Given the description of an element on the screen output the (x, y) to click on. 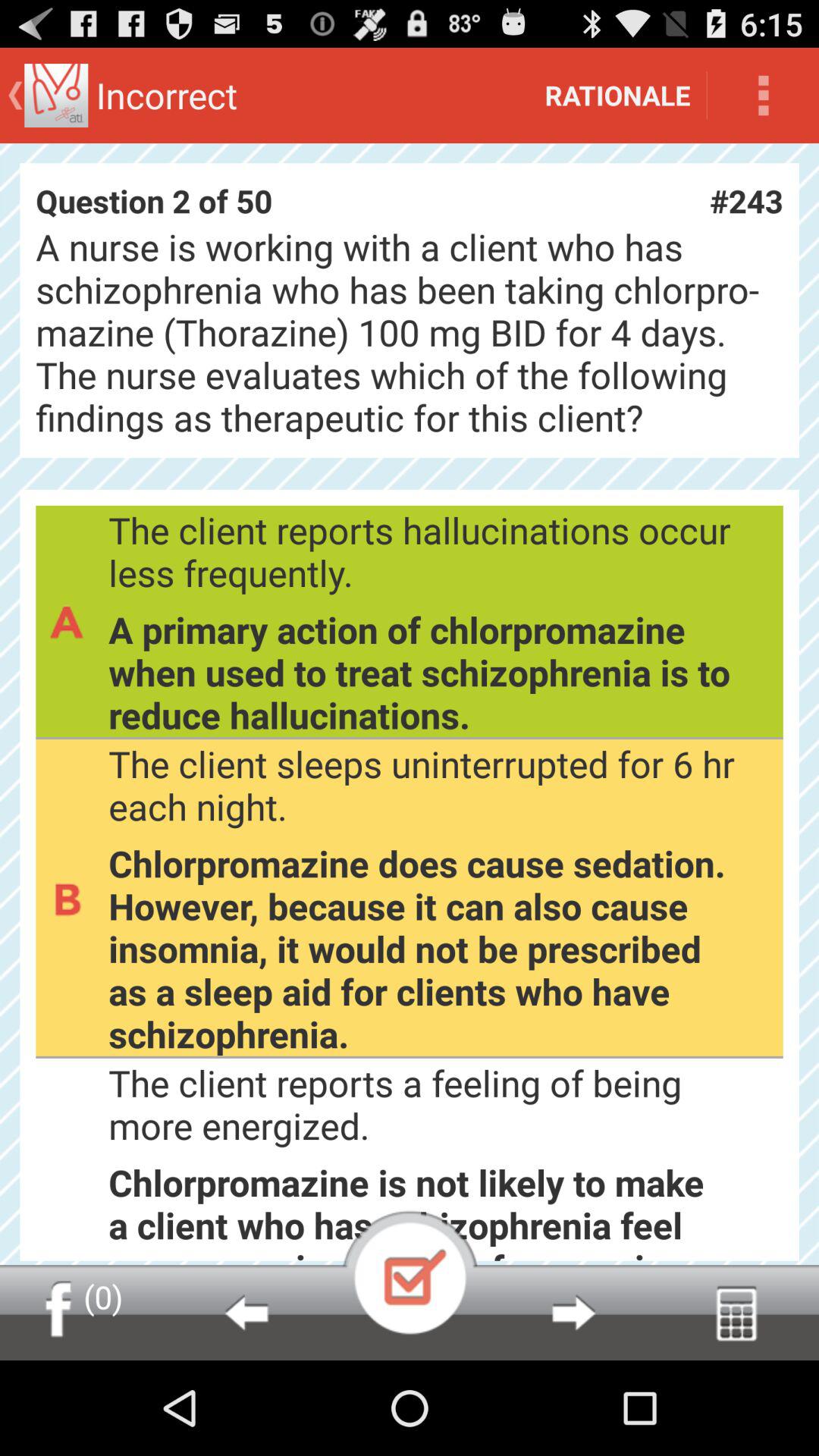
turn on icon to the right of incorrect (617, 95)
